Given the description of an element on the screen output the (x, y) to click on. 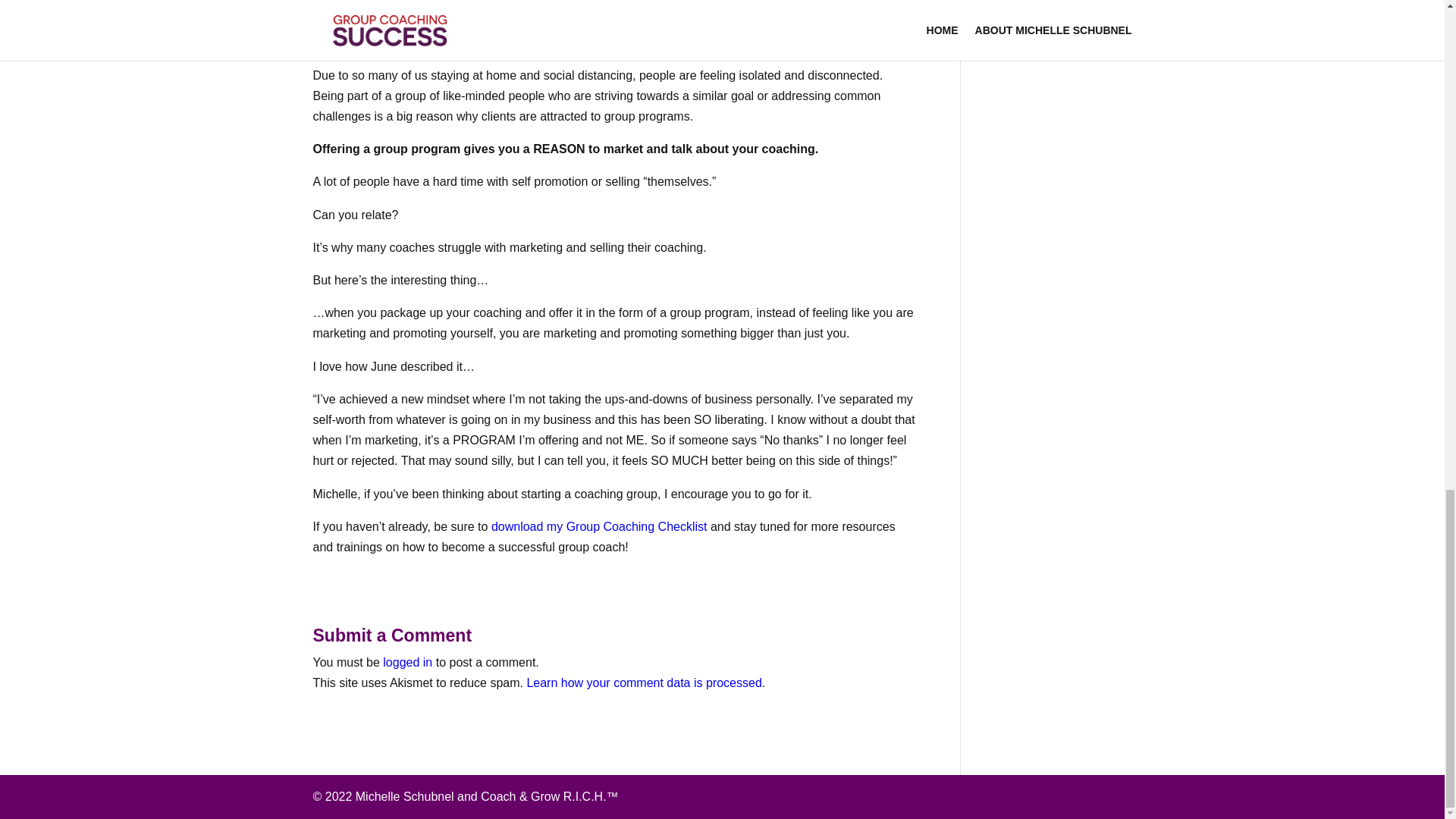
Learn how your comment data is processed (643, 682)
logged in (407, 662)
download my Group Coaching Checklist (599, 526)
